Given the description of an element on the screen output the (x, y) to click on. 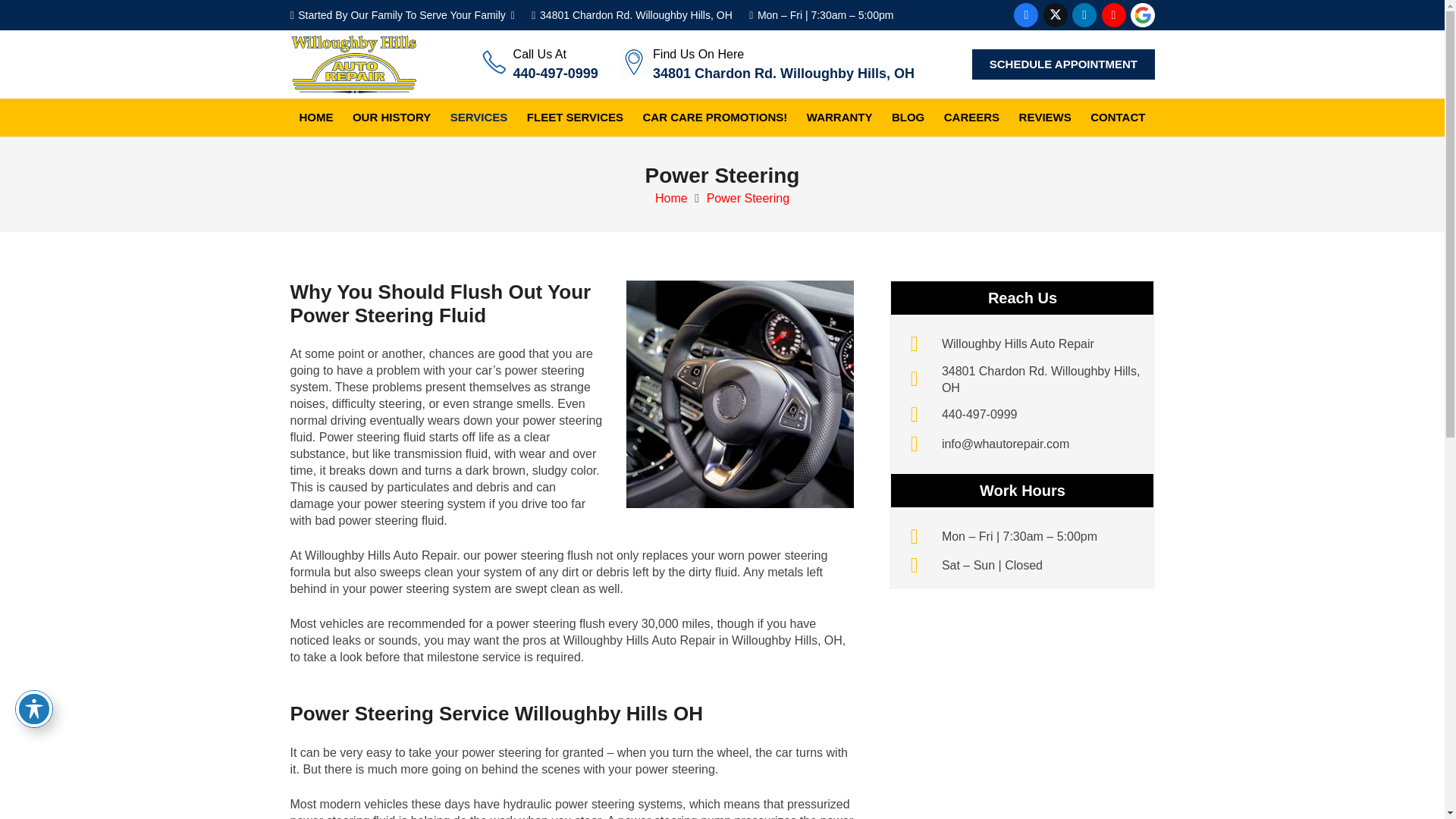
SERVICES (478, 117)
Facebook (1025, 15)
OUR HISTORY (391, 117)
Home (1018, 343)
34801 Chardon Rd. Willoughby Hills, OH (783, 72)
SCHEDULE APPOINTMENT (1063, 64)
440-497-0999 (555, 72)
34801 Chardon Rd. Willoughby Hills, OH (631, 15)
HOME (315, 117)
YouTube (1112, 15)
